Given the description of an element on the screen output the (x, y) to click on. 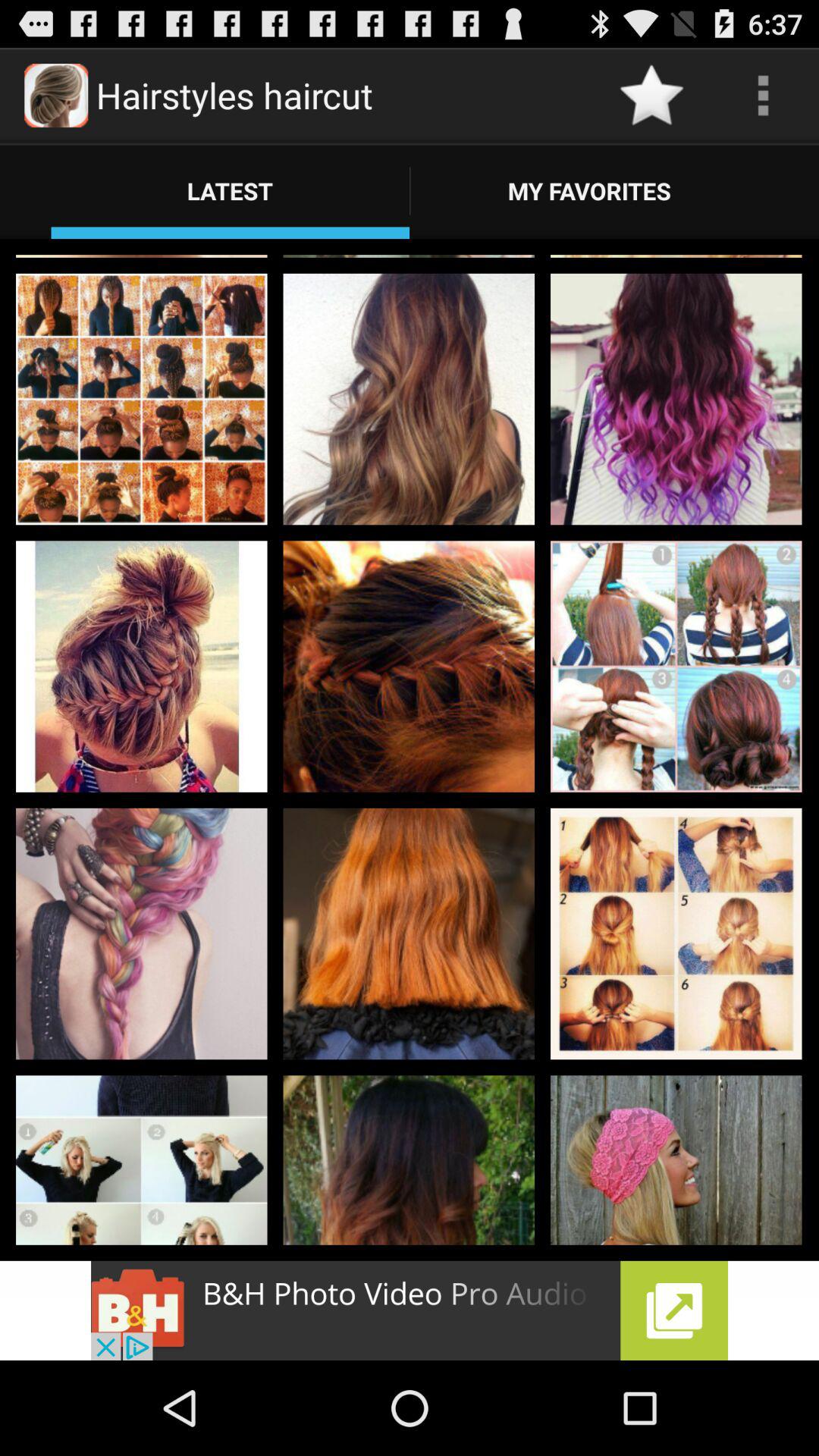
go to main menu (763, 95)
